Given the description of an element on the screen output the (x, y) to click on. 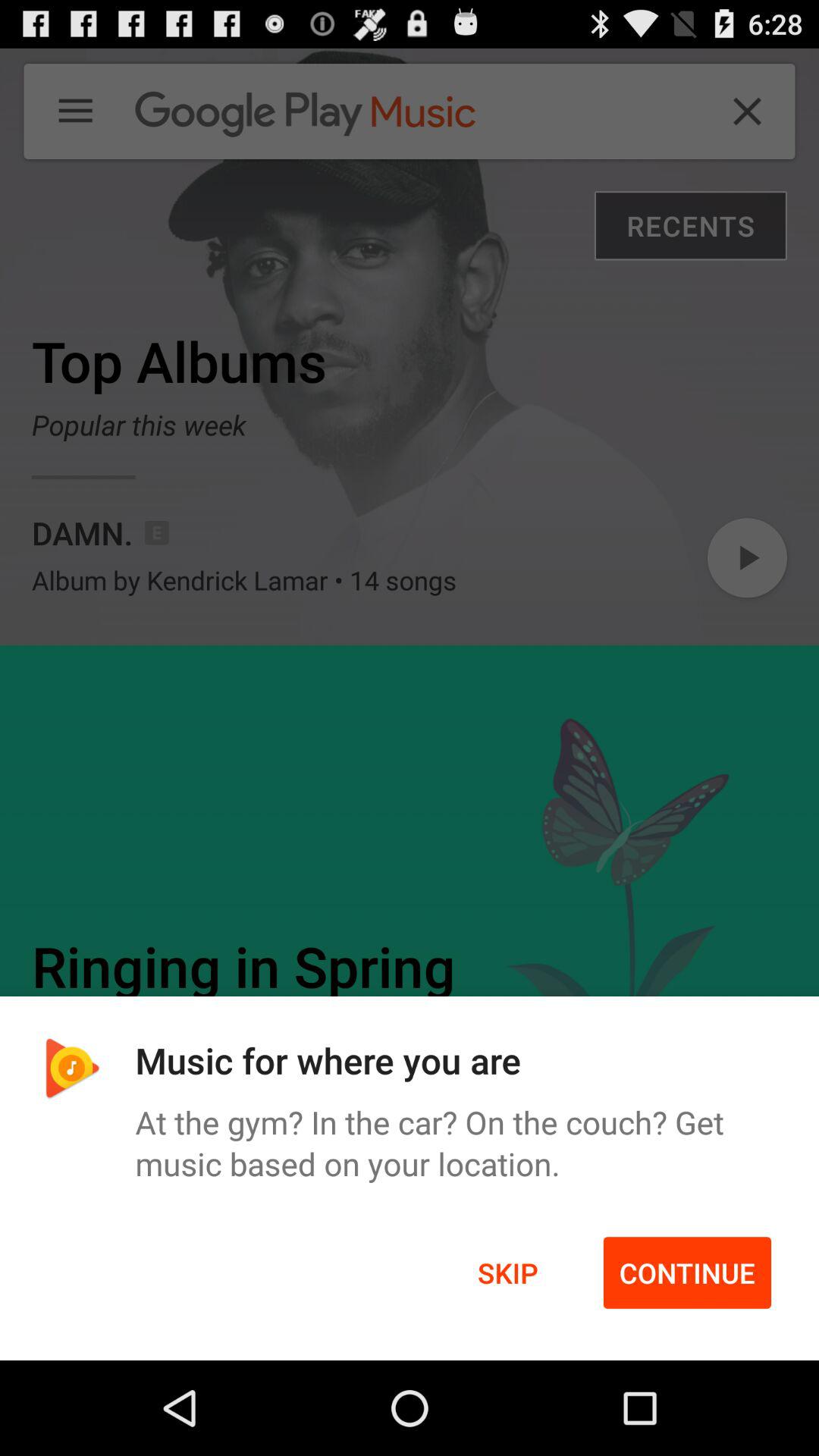
choose the continue item (687, 1272)
